Given the description of an element on the screen output the (x, y) to click on. 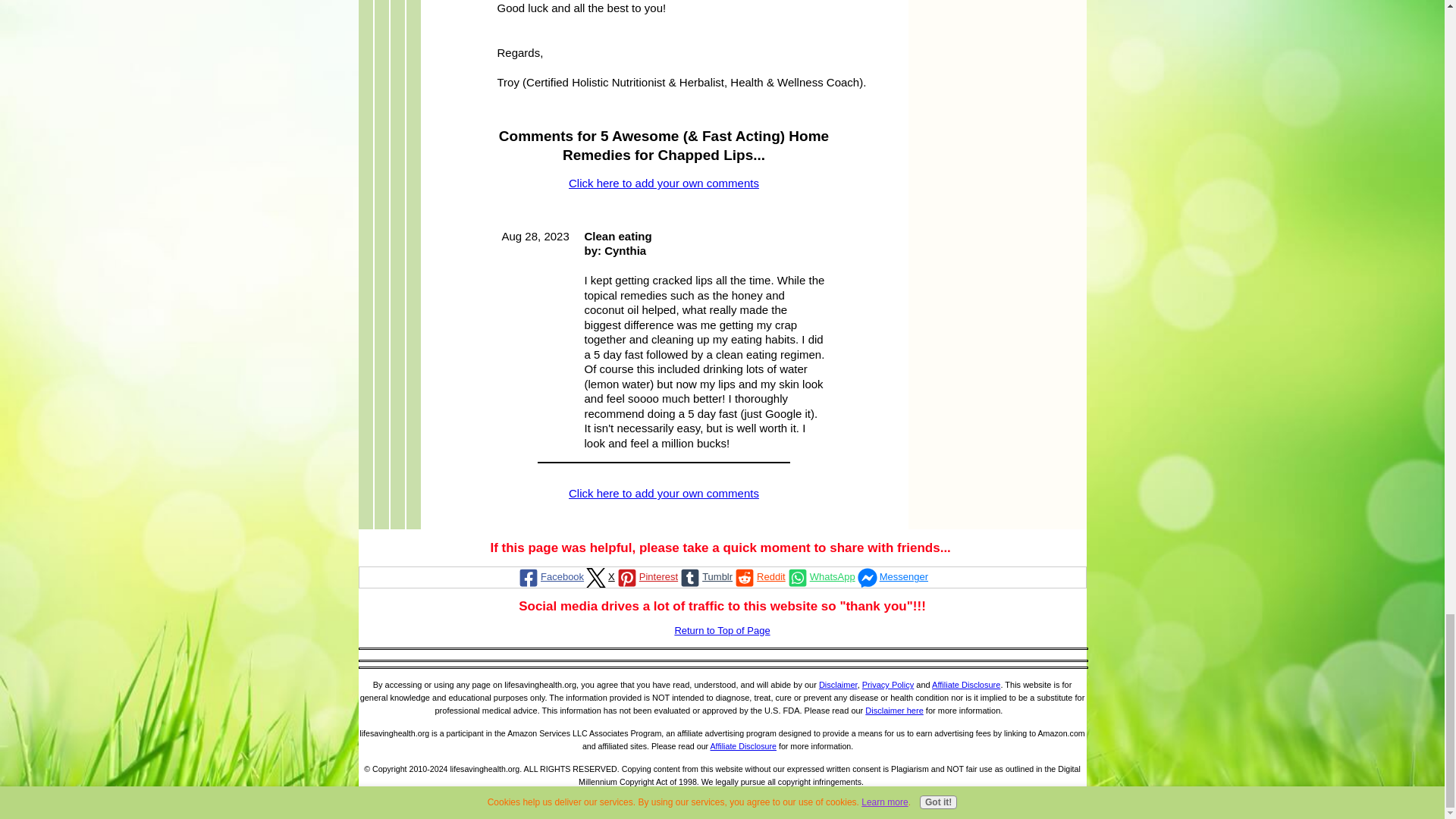
Click here to add your own comments (663, 182)
Click here to add your own comments (663, 492)
